Given the description of an element on the screen output the (x, y) to click on. 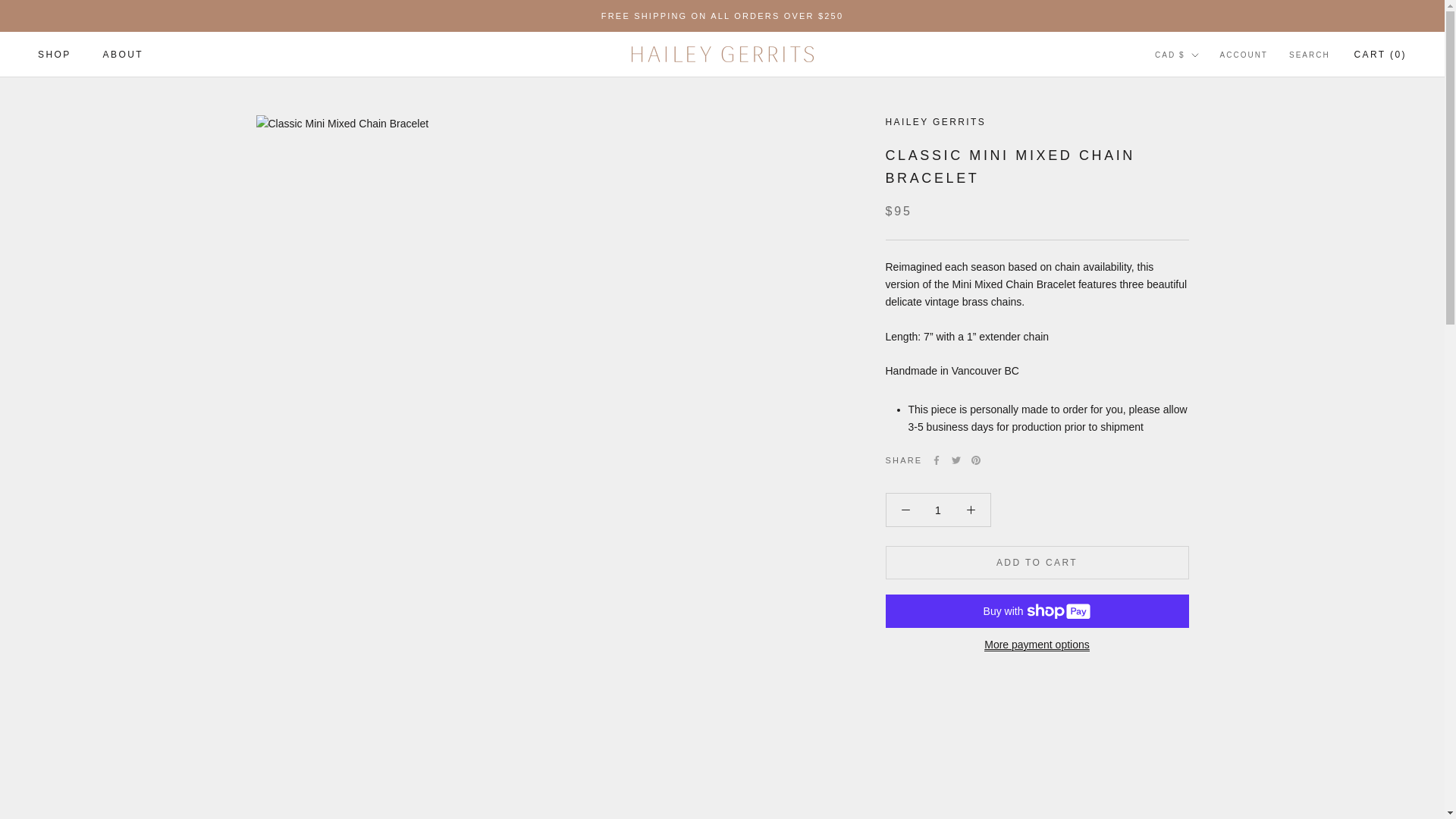
1 (938, 510)
SHOP (54, 54)
